Given the description of an element on the screen output the (x, y) to click on. 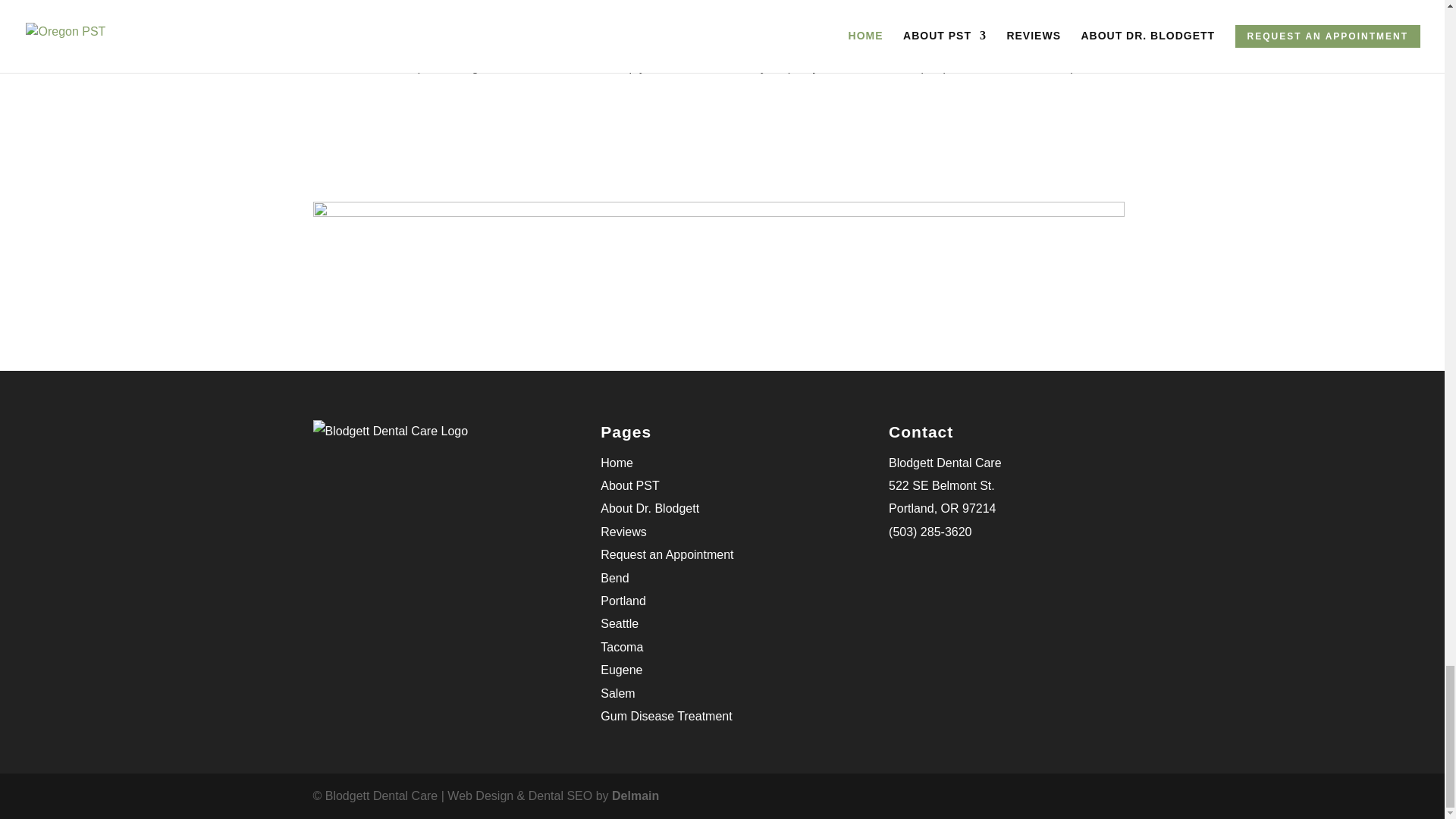
Blodgett Dental Care (944, 462)
Reviews (622, 531)
Delmain (635, 795)
Bend (613, 577)
Eugene (620, 669)
Home (616, 462)
About Dr. Blodgett (648, 508)
Seattle (619, 623)
Gum Disease Treatment (665, 716)
About PST (629, 485)
